Given the description of an element on the screen output the (x, y) to click on. 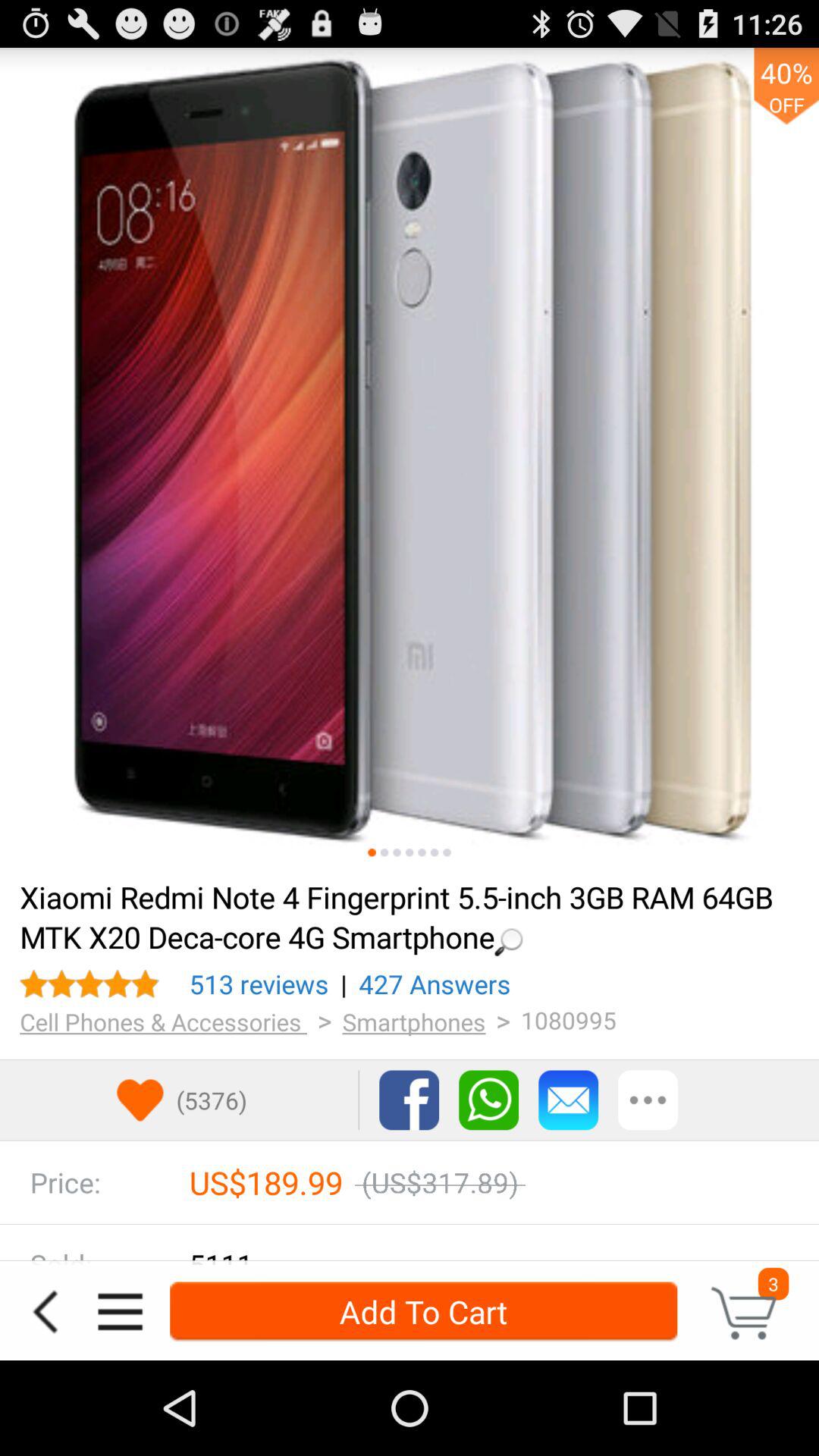
slide to next image (384, 852)
